Given the description of an element on the screen output the (x, y) to click on. 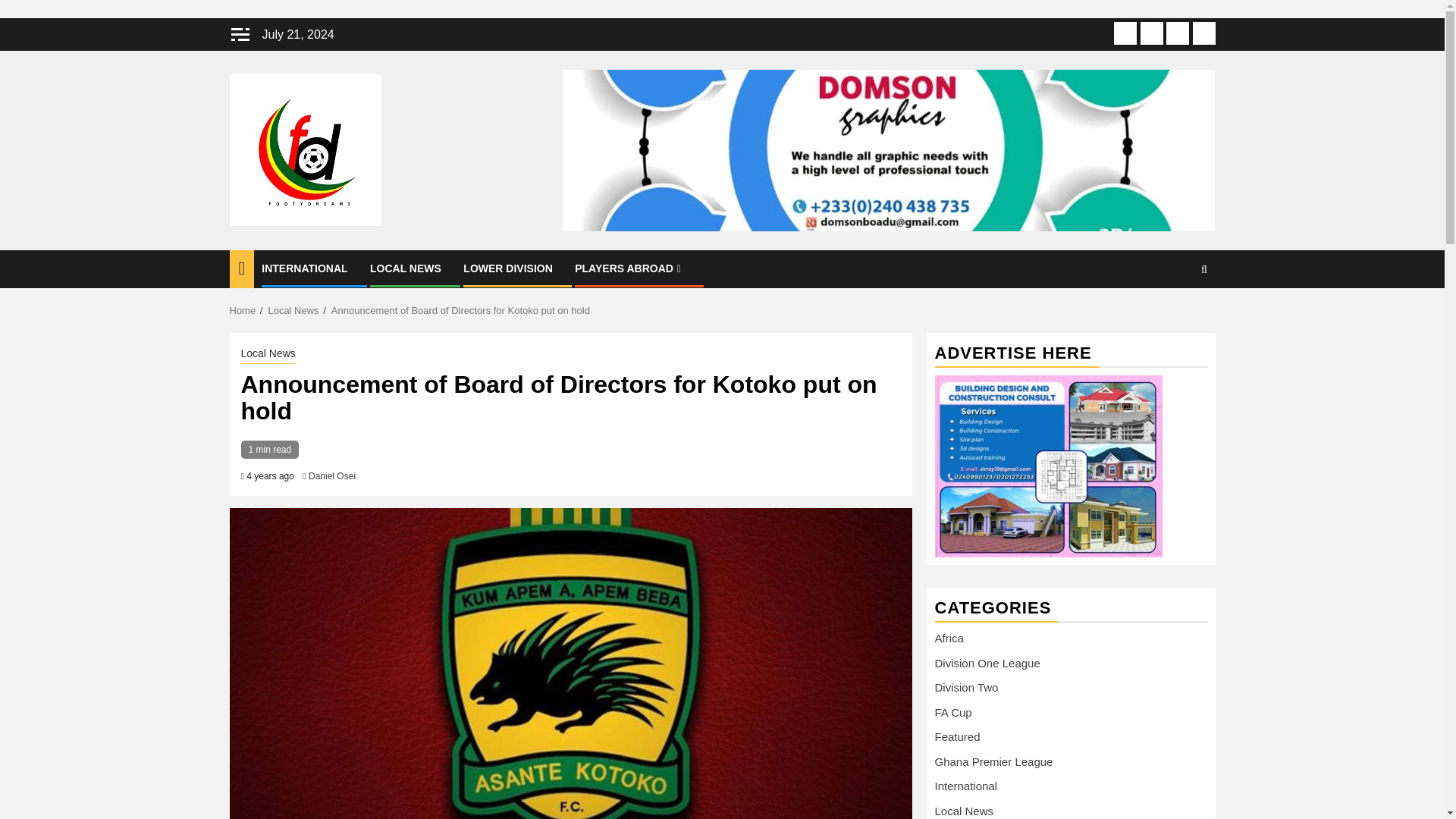
About us (1125, 33)
INTERNATIONAL (304, 268)
Privacy Policy (1177, 33)
Contact us (1203, 33)
Announcement of Board of Directors for Kotoko put on hold (460, 310)
PLAYERS ABROAD (629, 268)
Daniel Osei (331, 475)
Advertise here (1047, 466)
Local News (268, 354)
Local News (292, 310)
LOWER DIVISION (507, 268)
Terms Of Use (1151, 33)
Search (1174, 314)
Home (242, 310)
LOCAL NEWS (405, 268)
